Given the description of an element on the screen output the (x, y) to click on. 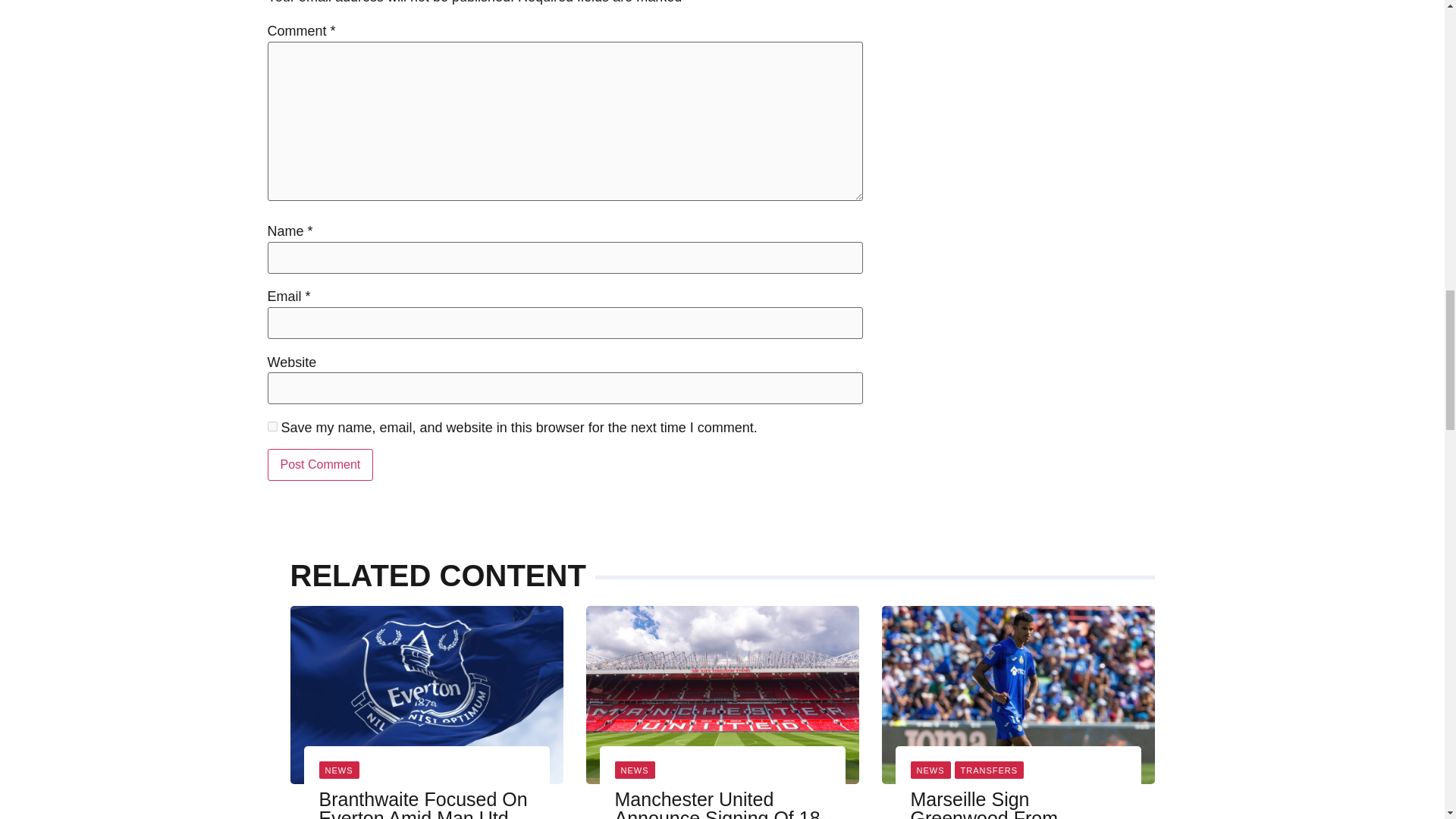
yes (271, 426)
Post Comment (319, 464)
